Given the description of an element on the screen output the (x, y) to click on. 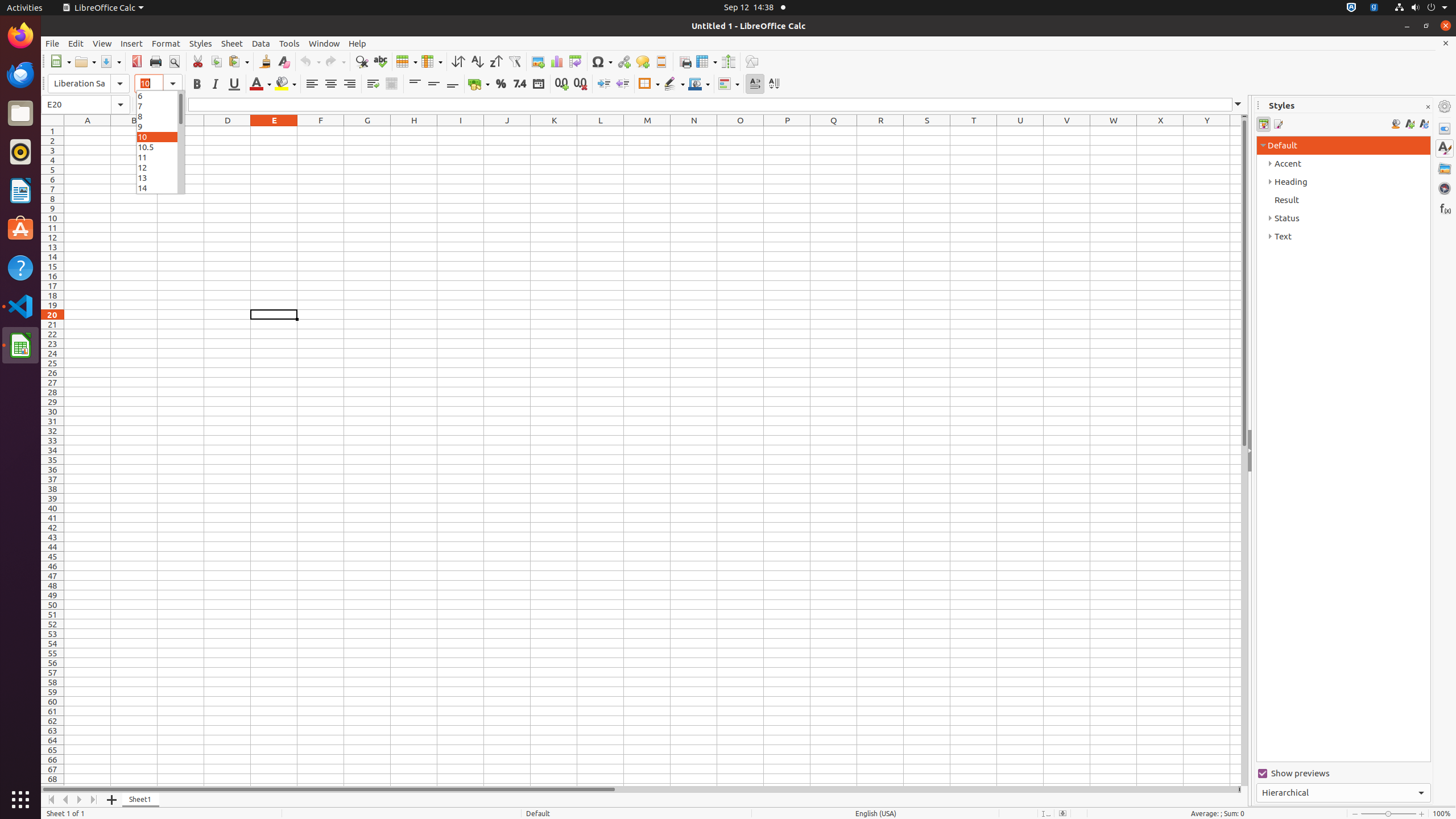
A1 Element type: table-cell (87, 130)
6 Element type: list-item (160, 95)
Font Color Element type: push-button (260, 83)
Align Top Element type: push-button (414, 83)
11 Element type: list-item (160, 156)
